Given the description of an element on the screen output the (x, y) to click on. 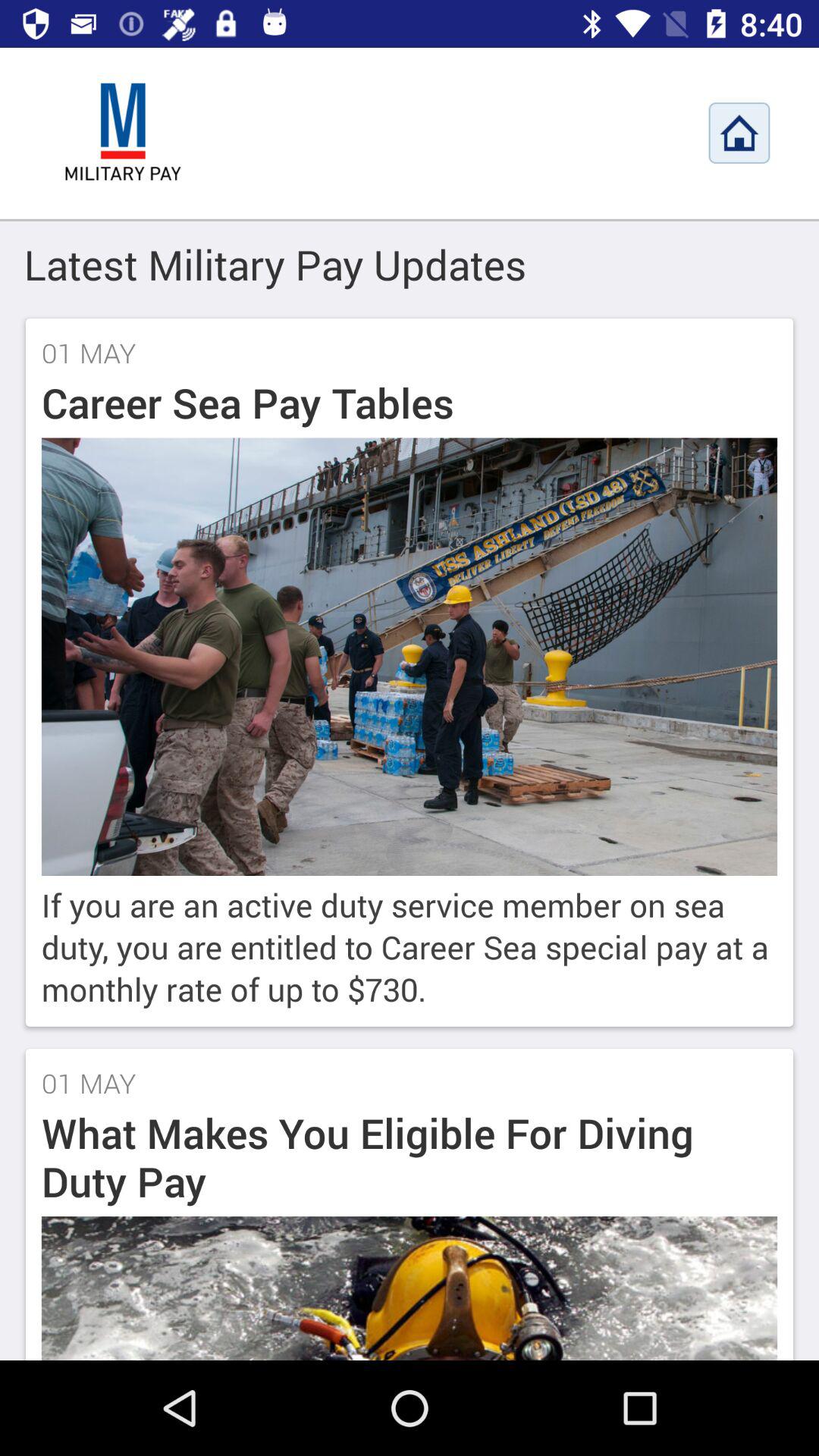
the news brand name (123, 132)
